Given the description of an element on the screen output the (x, y) to click on. 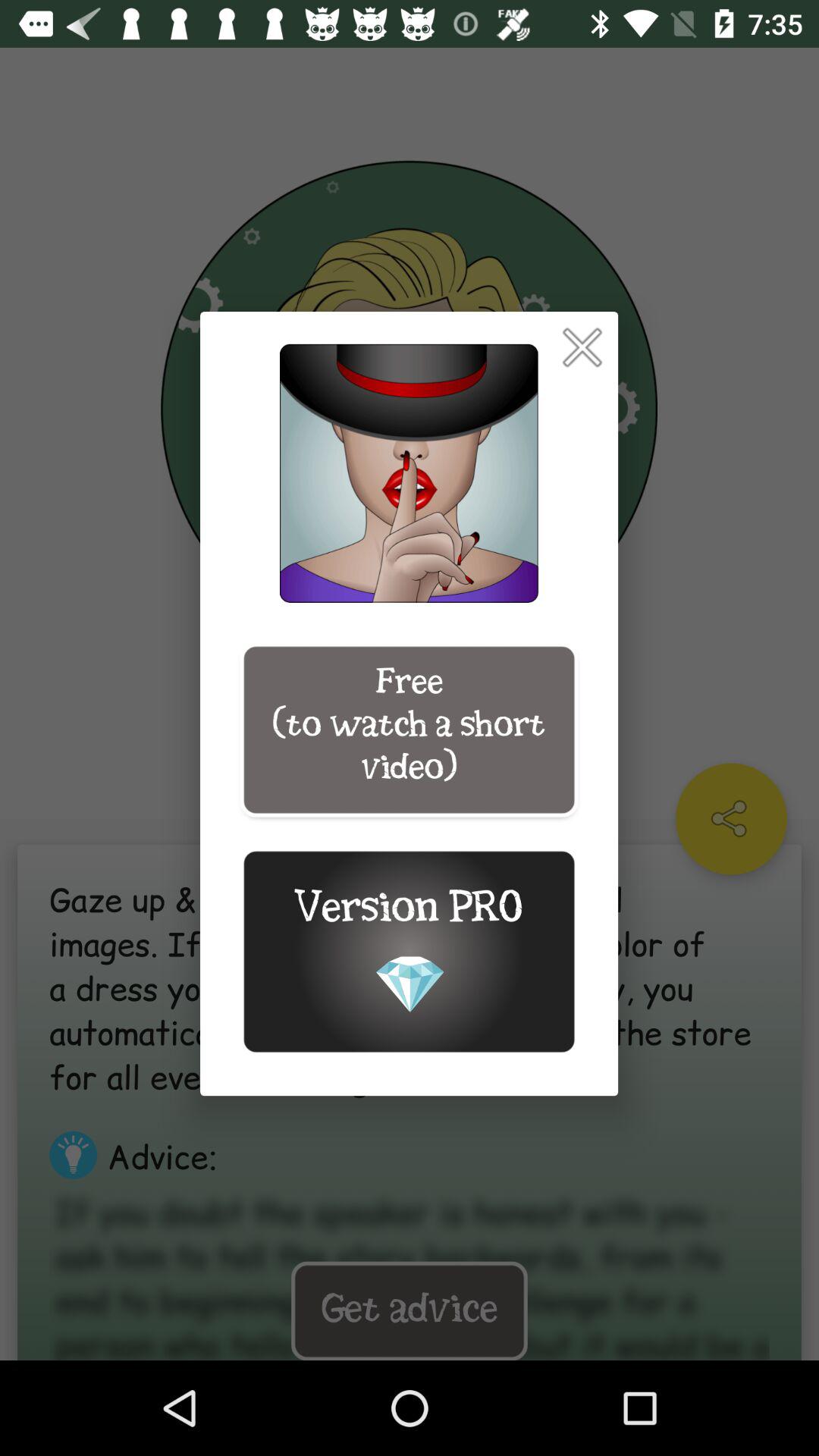
open icon above the version pro (409, 729)
